Given the description of an element on the screen output the (x, y) to click on. 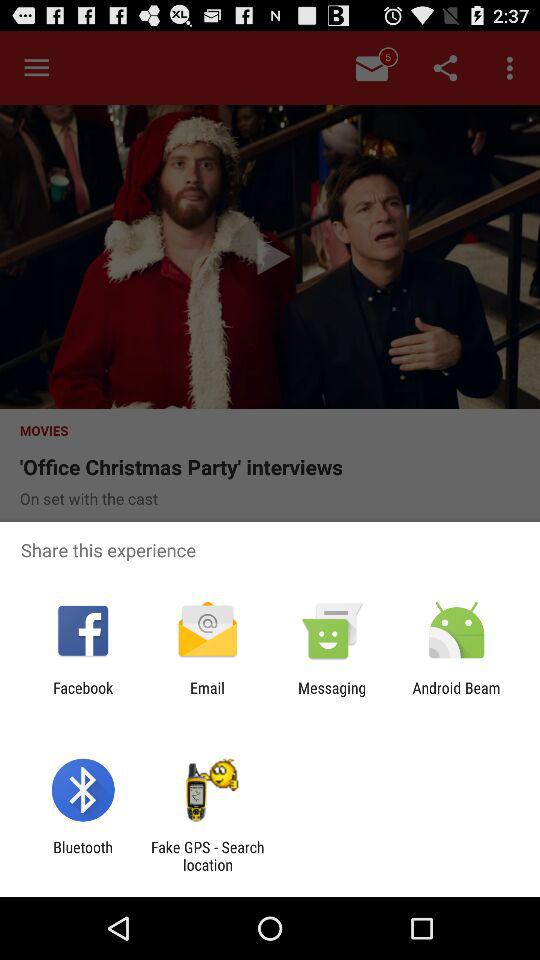
flip until android beam (456, 696)
